Given the description of an element on the screen output the (x, y) to click on. 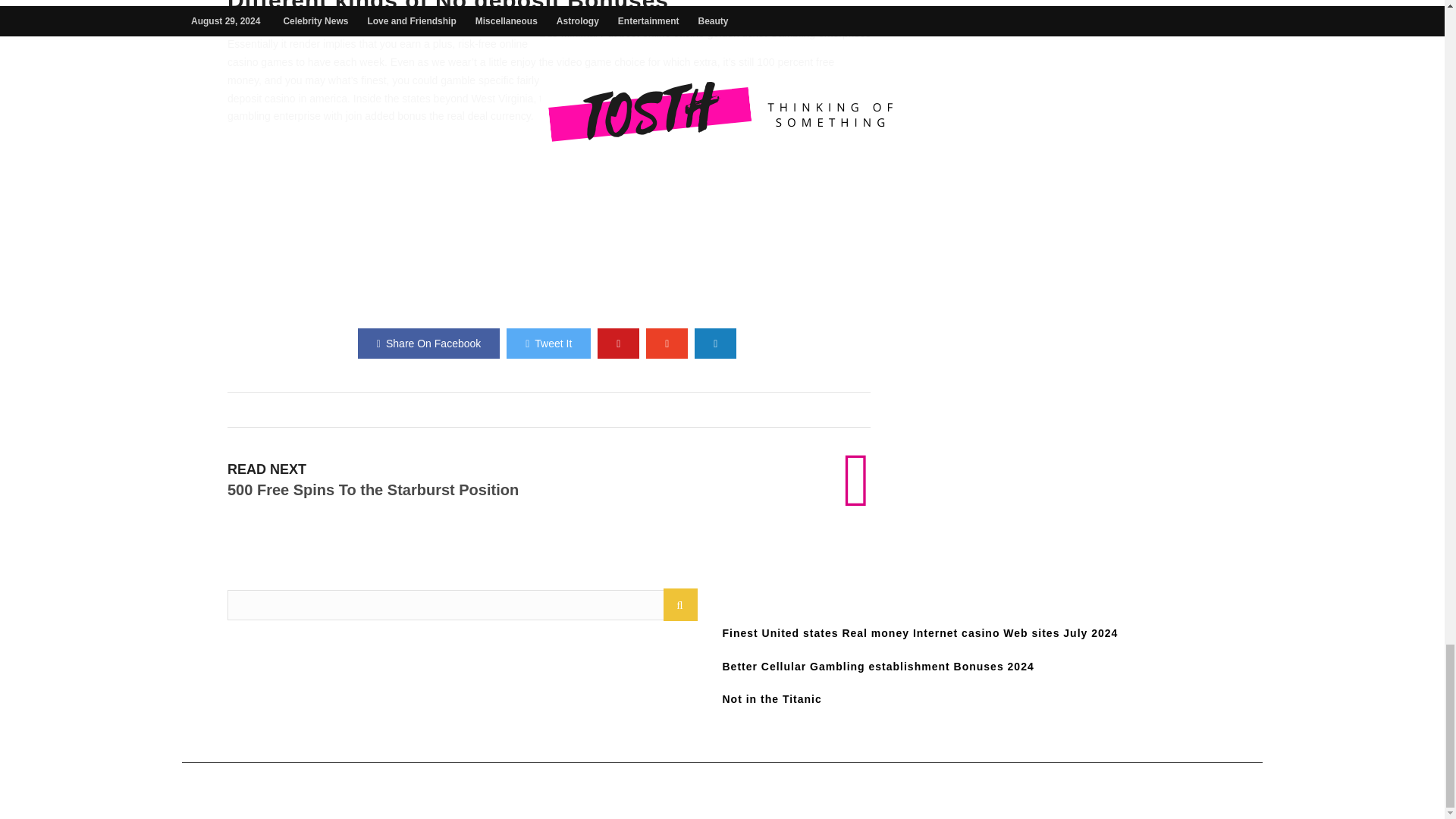
Share On Twitter (548, 343)
Share On Pinterest (617, 343)
Share by Email (715, 343)
Share On Facebook (428, 343)
